Given the description of an element on the screen output the (x, y) to click on. 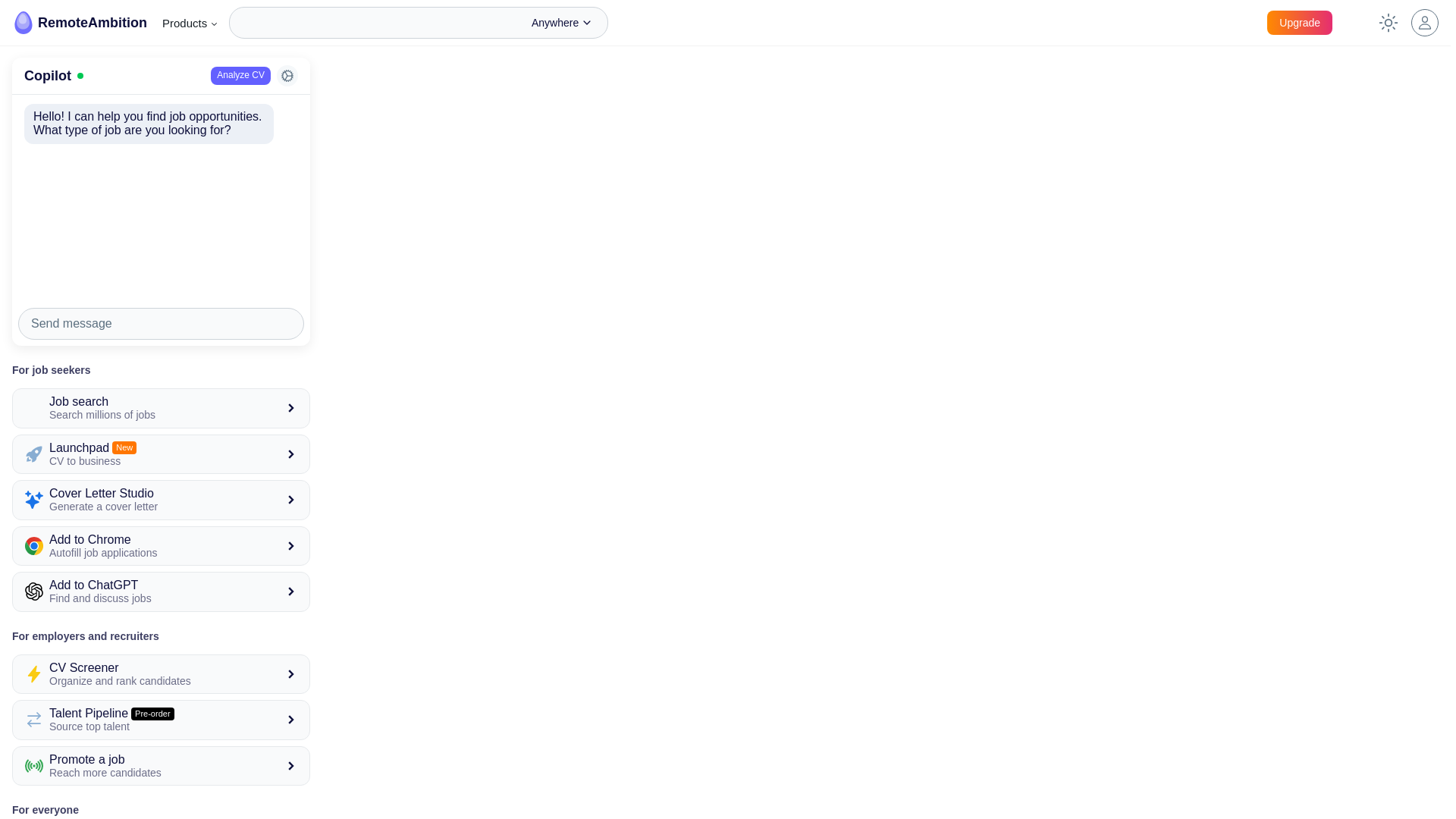
Products (160, 673)
RemoteAmbition (160, 765)
Upgrade (190, 22)
